Given the description of an element on the screen output the (x, y) to click on. 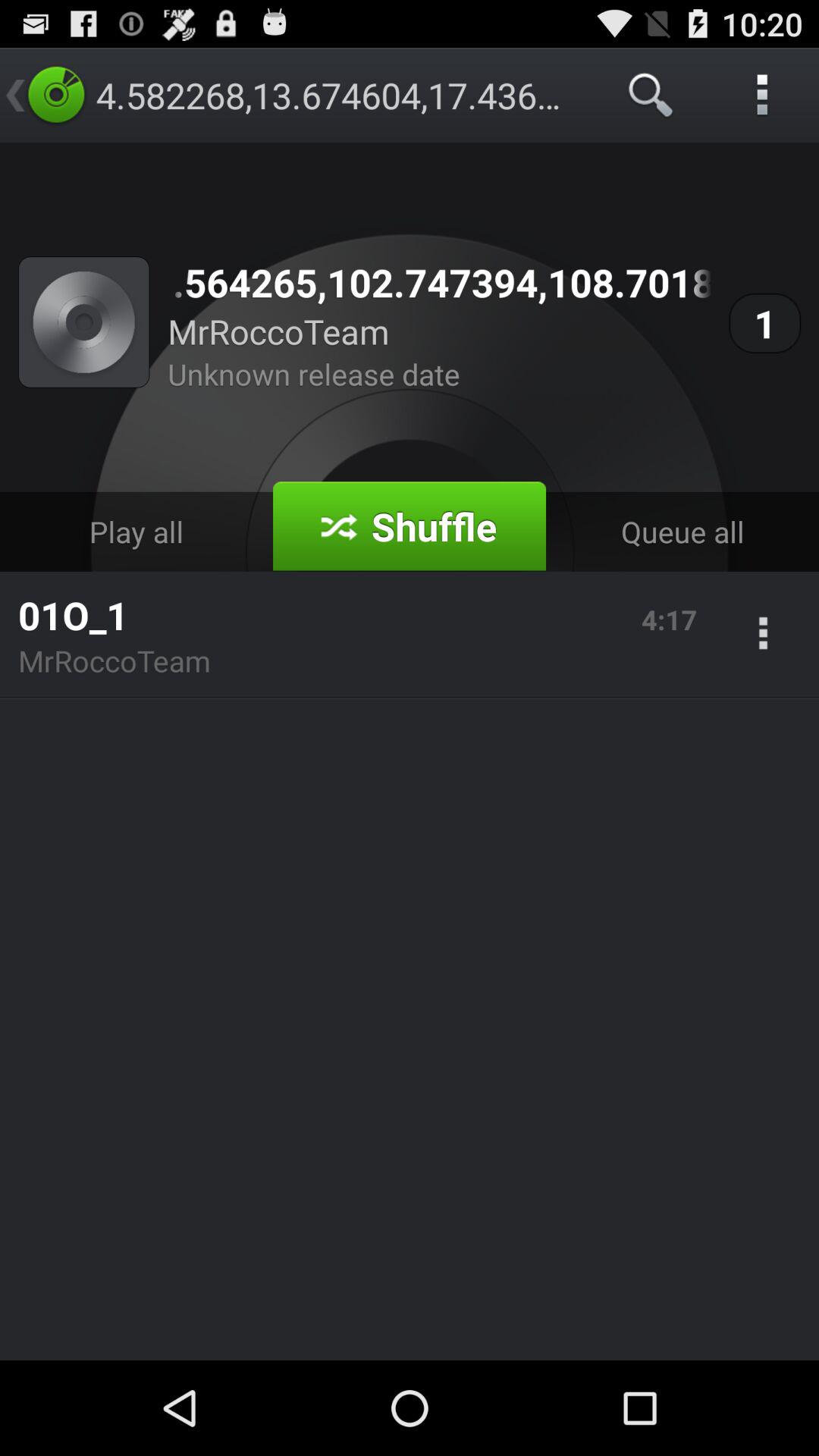
click the app below 1 icon (682, 531)
